Given the description of an element on the screen output the (x, y) to click on. 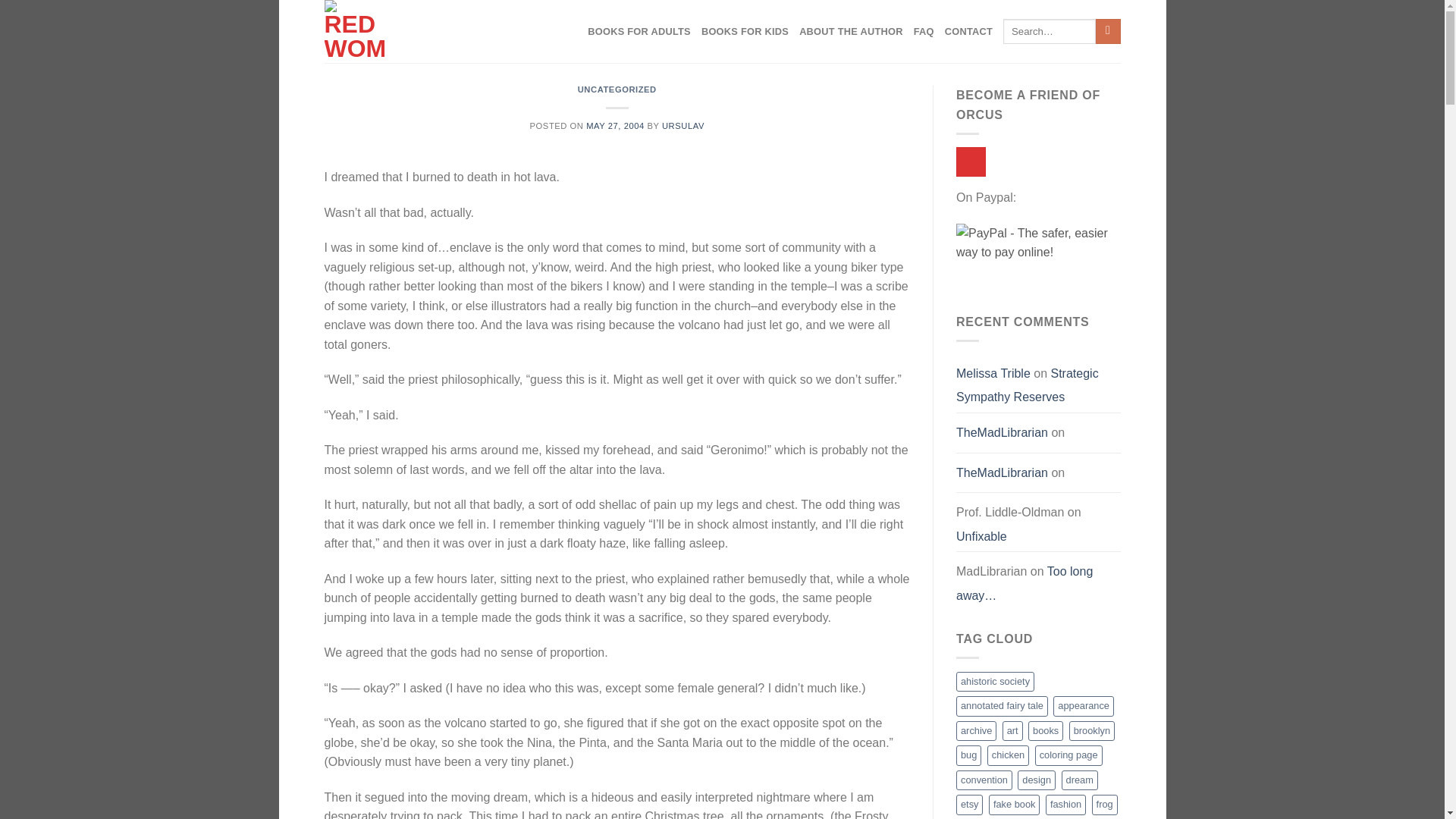
BOOKS FOR KIDS (745, 31)
UNCATEGORIZED (617, 89)
MAY 27, 2004 (615, 125)
URSULAV (683, 125)
BOOKS FOR ADULTS (639, 31)
